Given the description of an element on the screen output the (x, y) to click on. 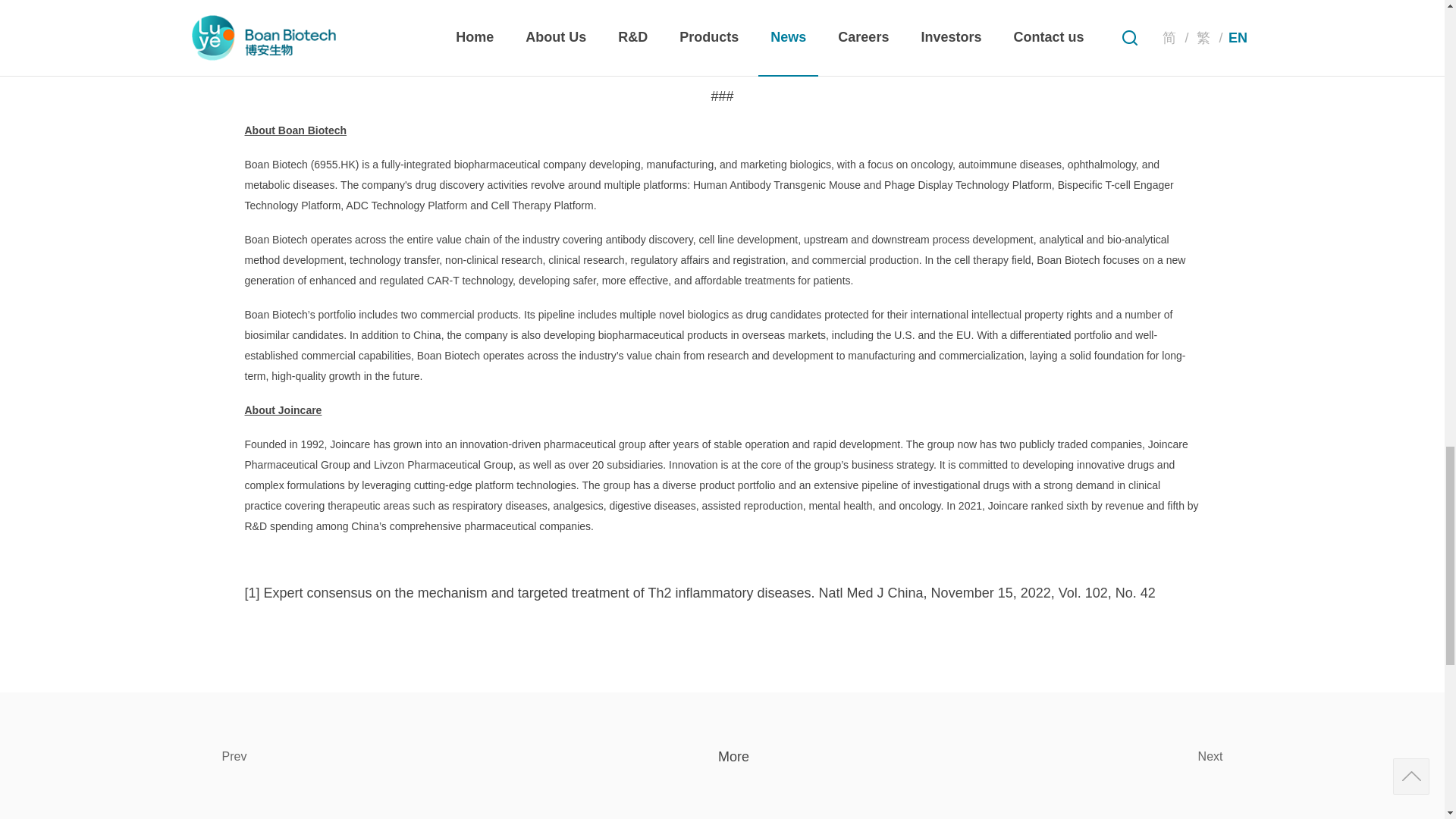
More (721, 757)
Next (1040, 757)
Prev (402, 757)
